Given the description of an element on the screen output the (x, y) to click on. 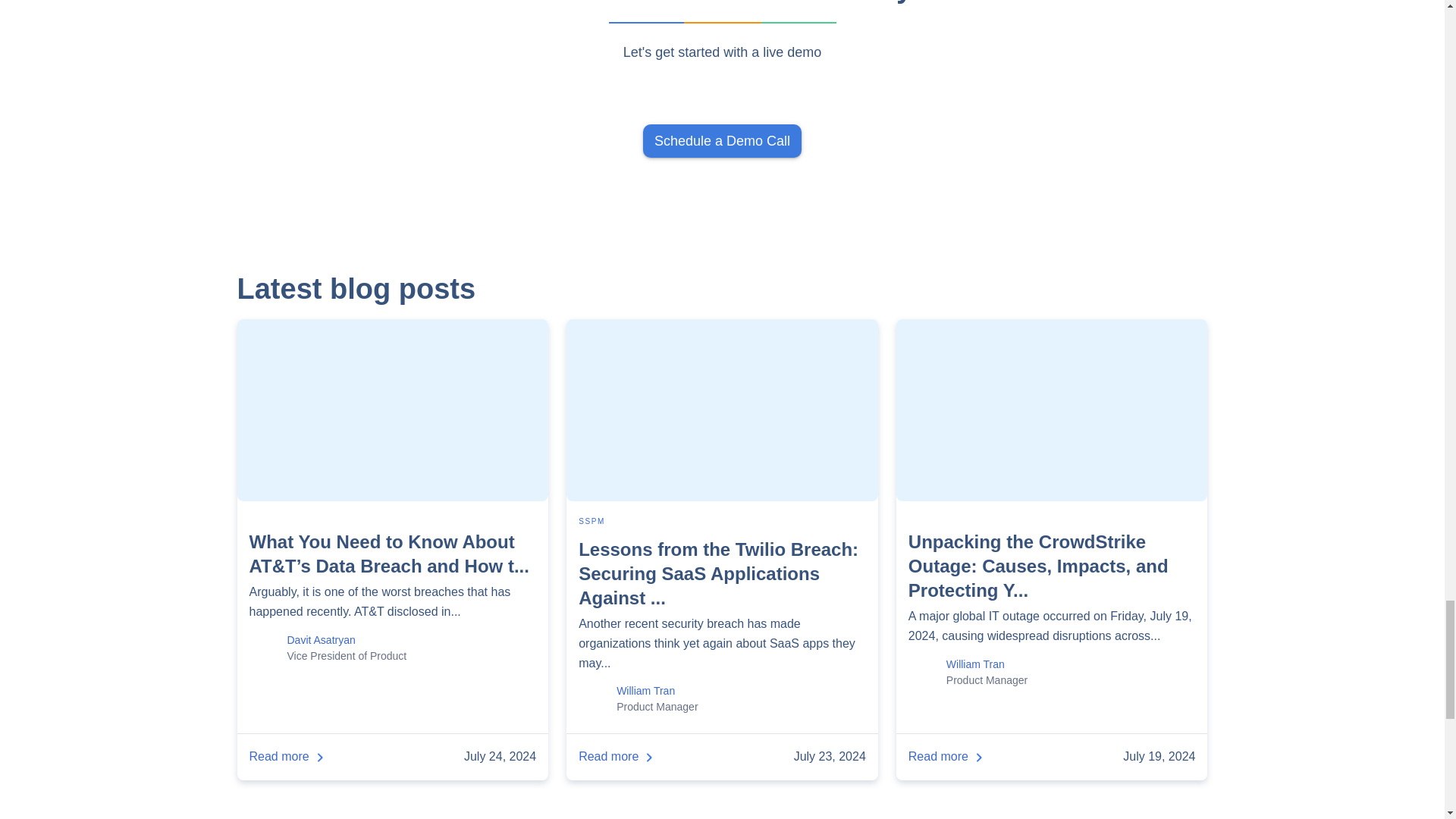
Posts by William Tran (975, 664)
Posts by William Tran (645, 690)
Posts by Davit Asatryan (320, 639)
